Given the description of an element on the screen output the (x, y) to click on. 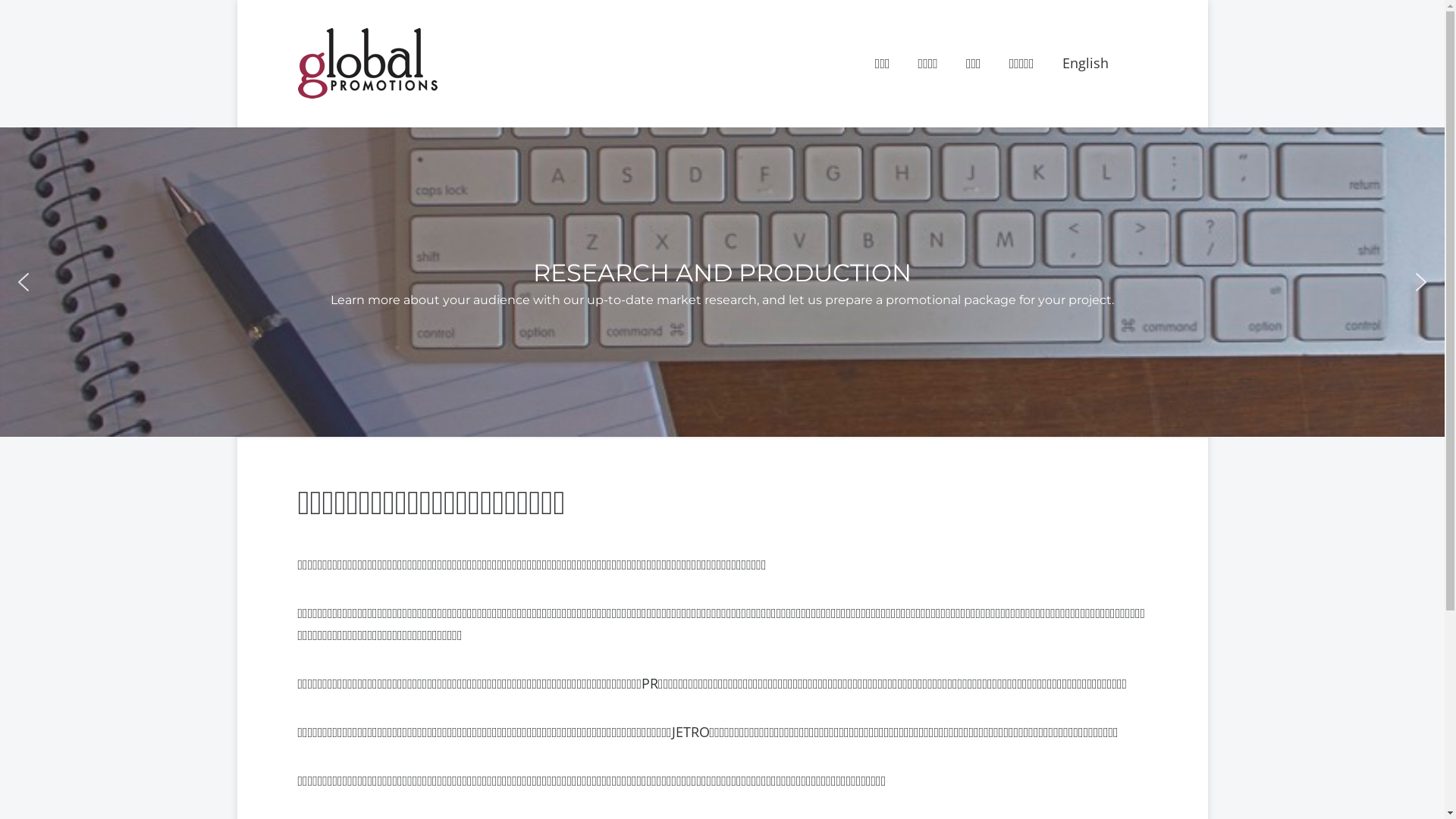
Skip to content Element type: text (236, 0)
Global Promotions Australia Element type: text (412, 121)
English Element type: text (1084, 63)
